Given the description of an element on the screen output the (x, y) to click on. 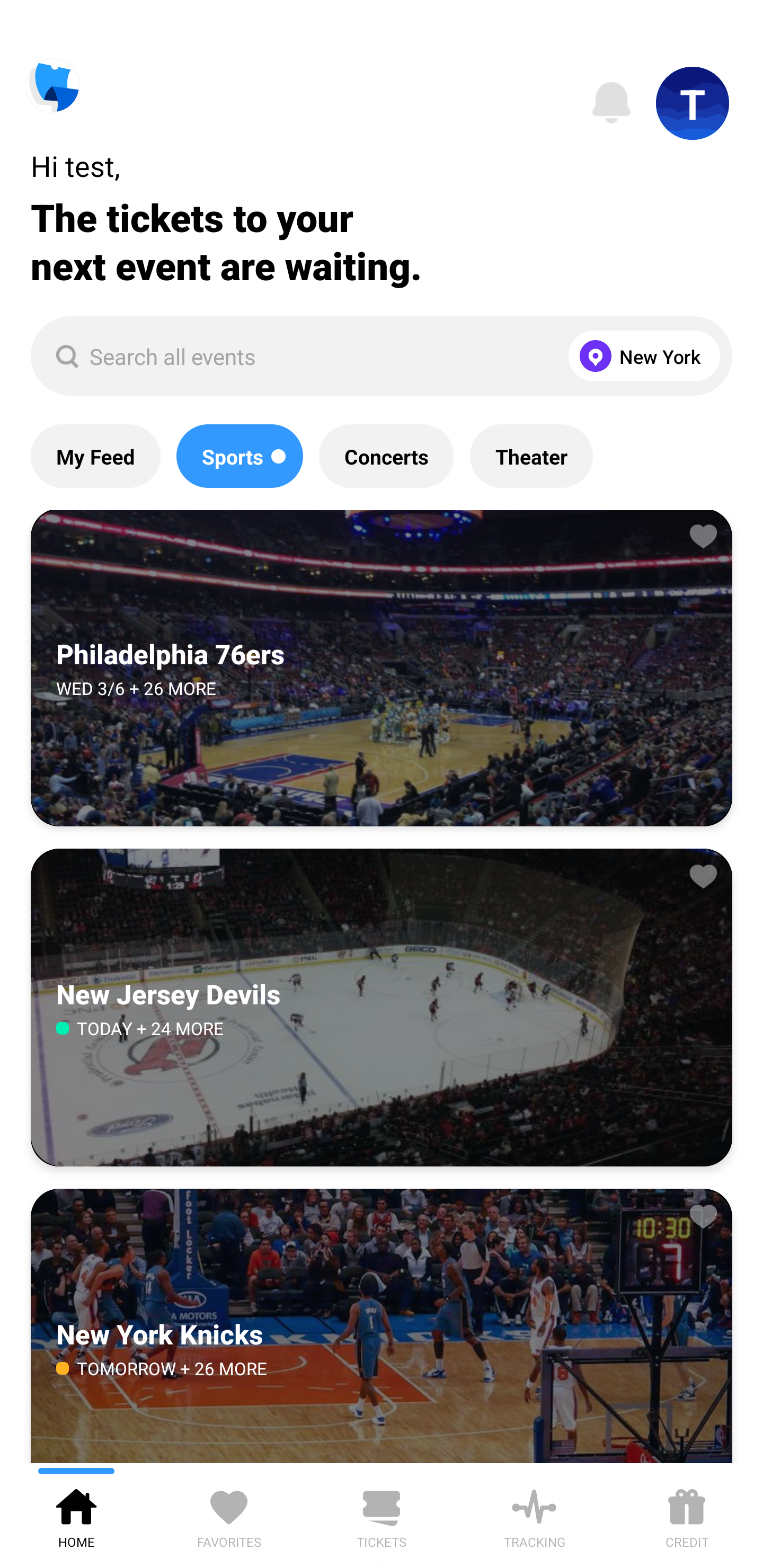
T (692, 103)
New York (640, 355)
My Feed (95, 455)
Sports (239, 455)
Concerts (385, 455)
Theater (531, 455)
HOME (76, 1515)
FAVORITES (228, 1515)
TICKETS (381, 1515)
TRACKING (533, 1515)
CREDIT (686, 1515)
